Given the description of an element on the screen output the (x, y) to click on. 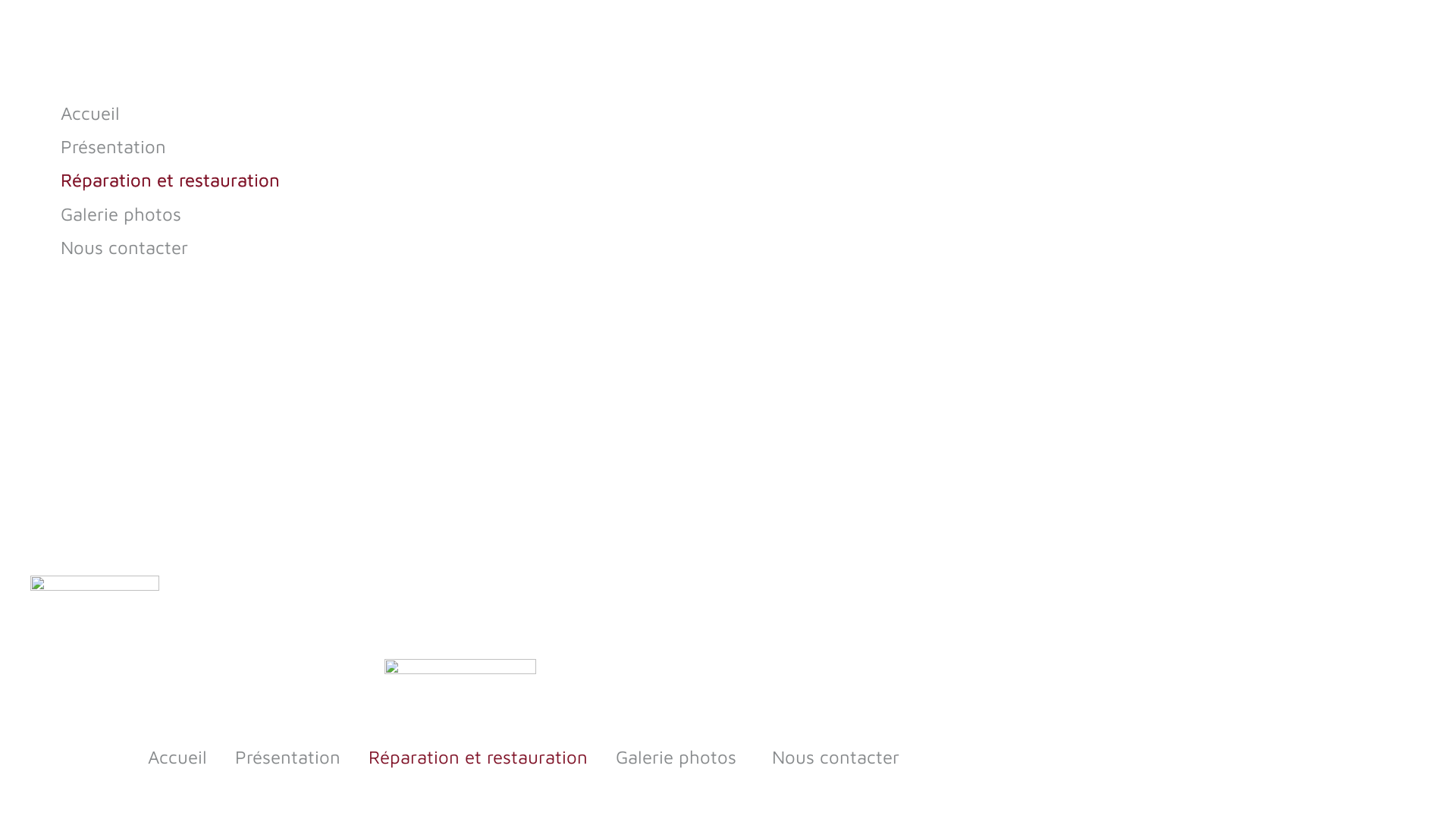
Galerie photos Element type: text (679, 756)
Nous contacter Element type: text (358, 249)
Galerie photos Element type: text (358, 215)
Accueil Element type: text (177, 756)
Nous contacter Element type: text (835, 756)
Accueil Element type: text (358, 114)
